Given the description of an element on the screen output the (x, y) to click on. 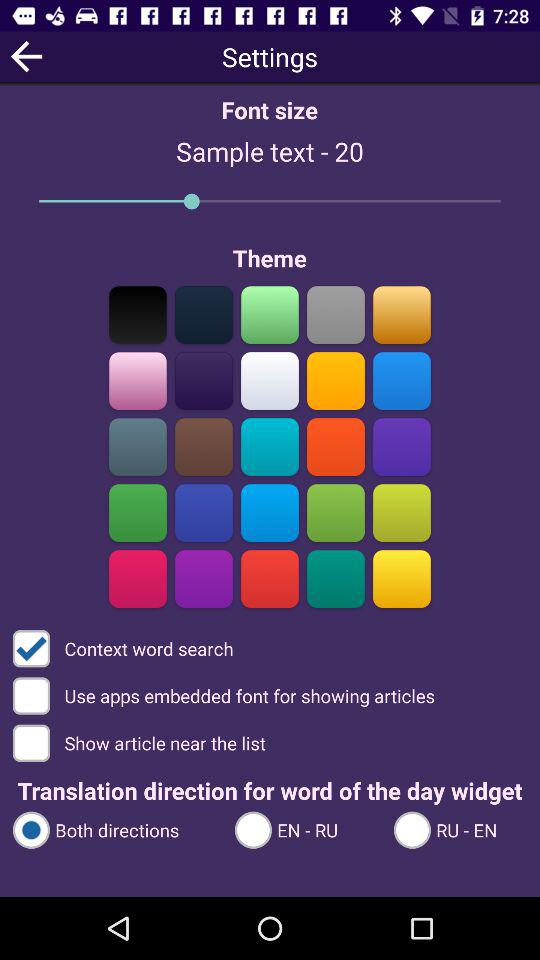
select colour (137, 314)
